Given the description of an element on the screen output the (x, y) to click on. 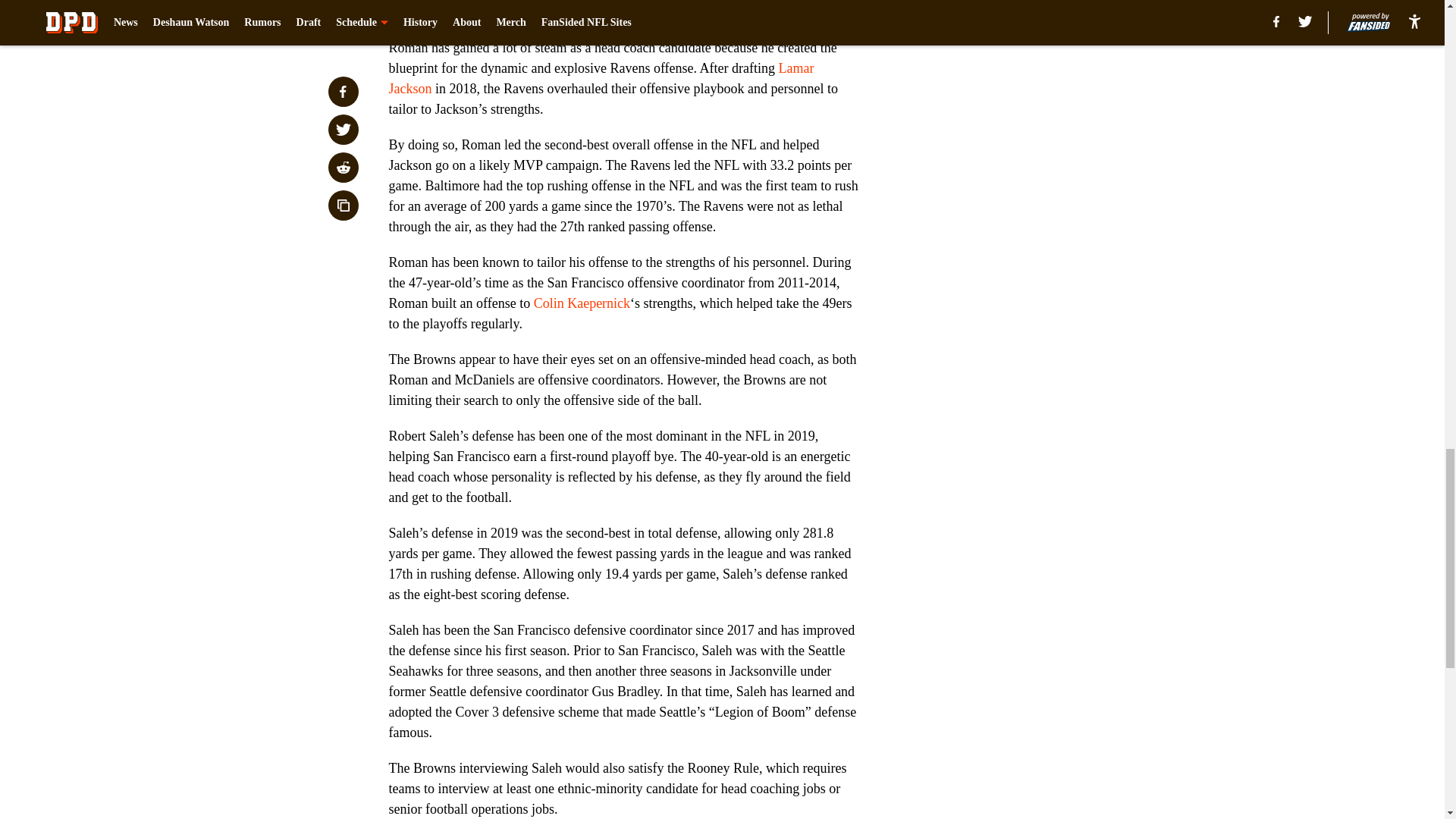
Lamar Jackson (600, 78)
Colin Kaepernick (582, 303)
